Given the description of an element on the screen output the (x, y) to click on. 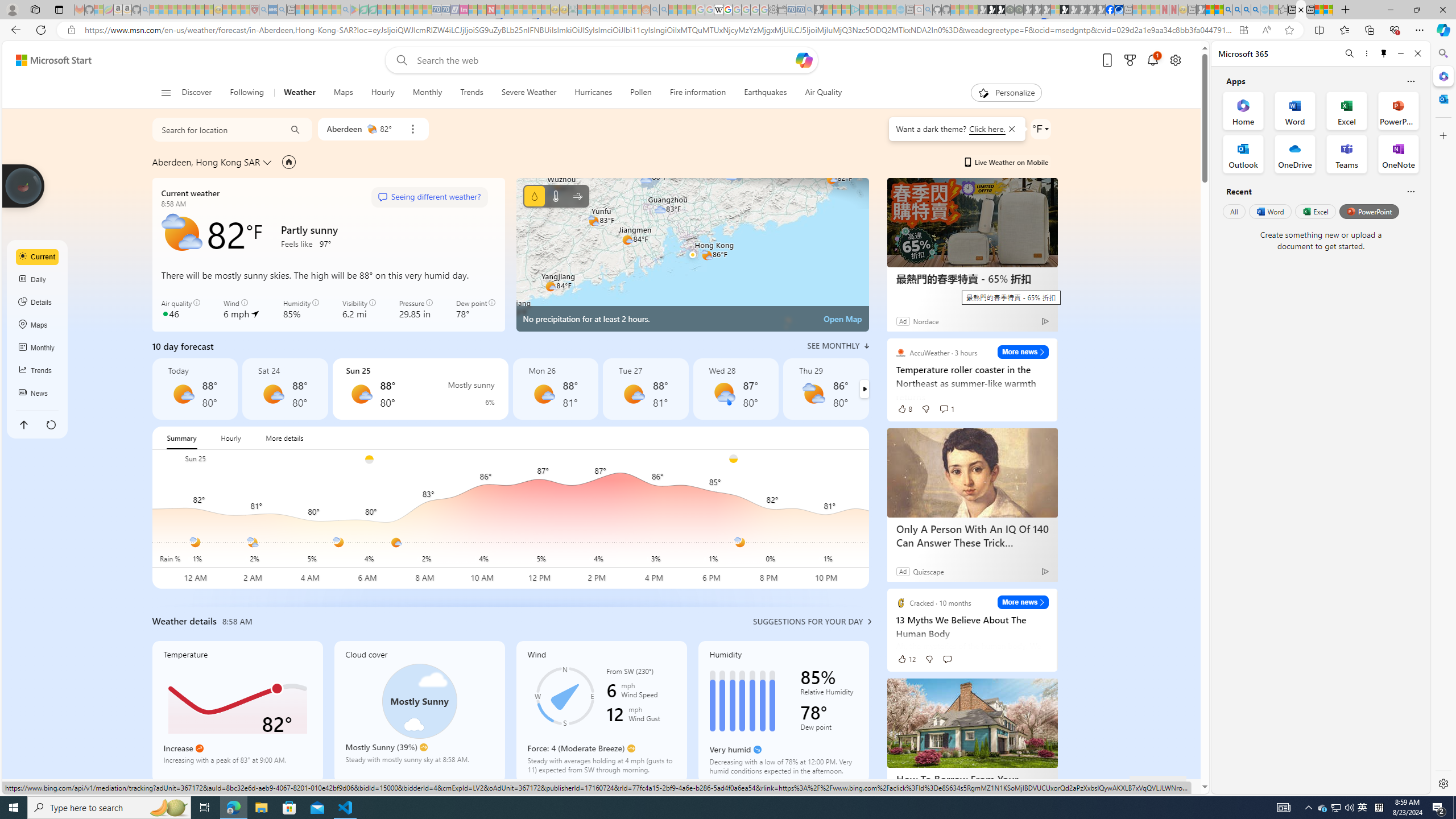
Your Privacy Choices (743, 786)
Hurricanes (592, 92)
Fire information (697, 92)
Consumer Health Privacy (835, 785)
Aberdeen (344, 129)
